Given the description of an element on the screen output the (x, y) to click on. 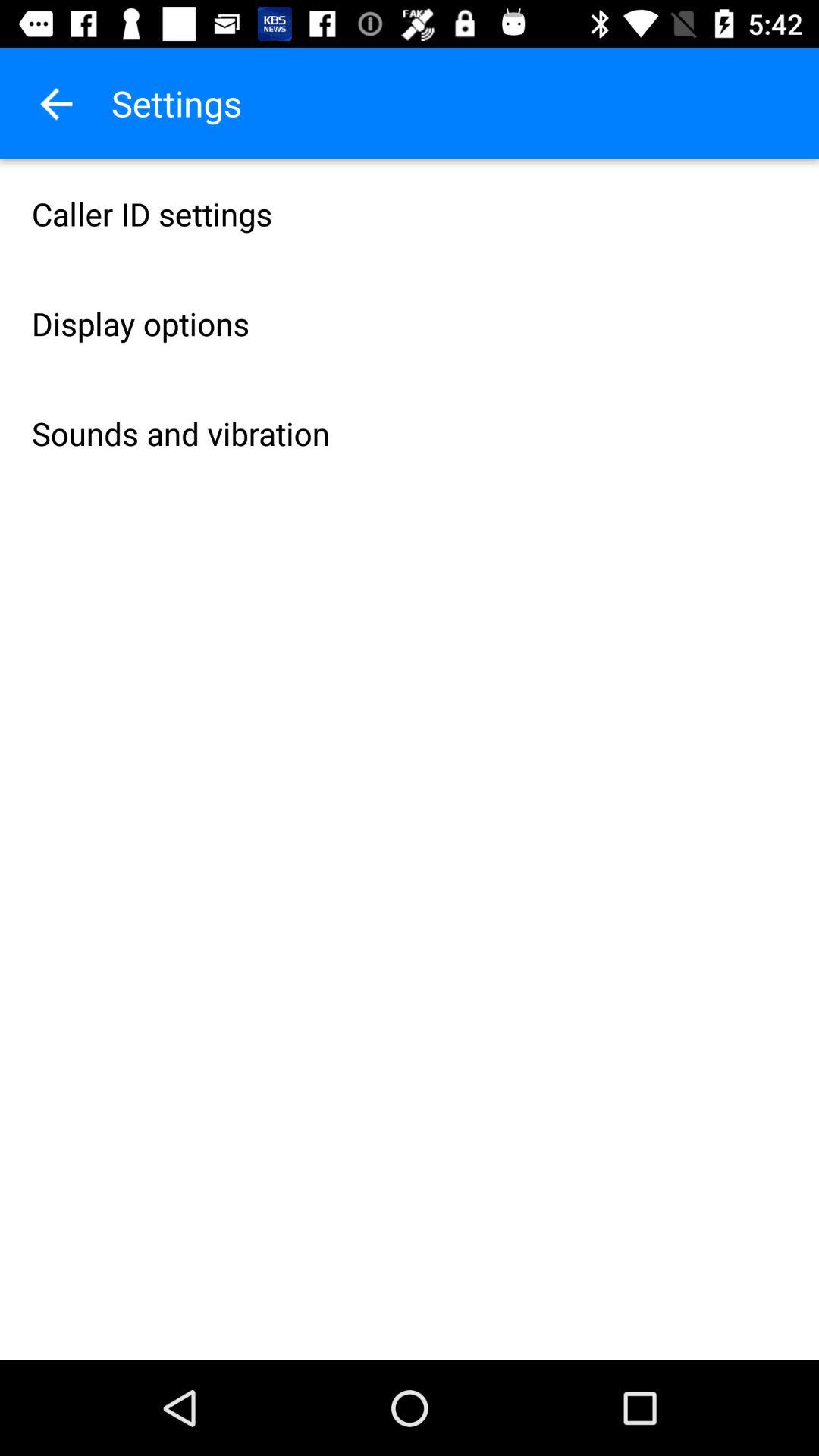
jump until the display options item (409, 323)
